Given the description of an element on the screen output the (x, y) to click on. 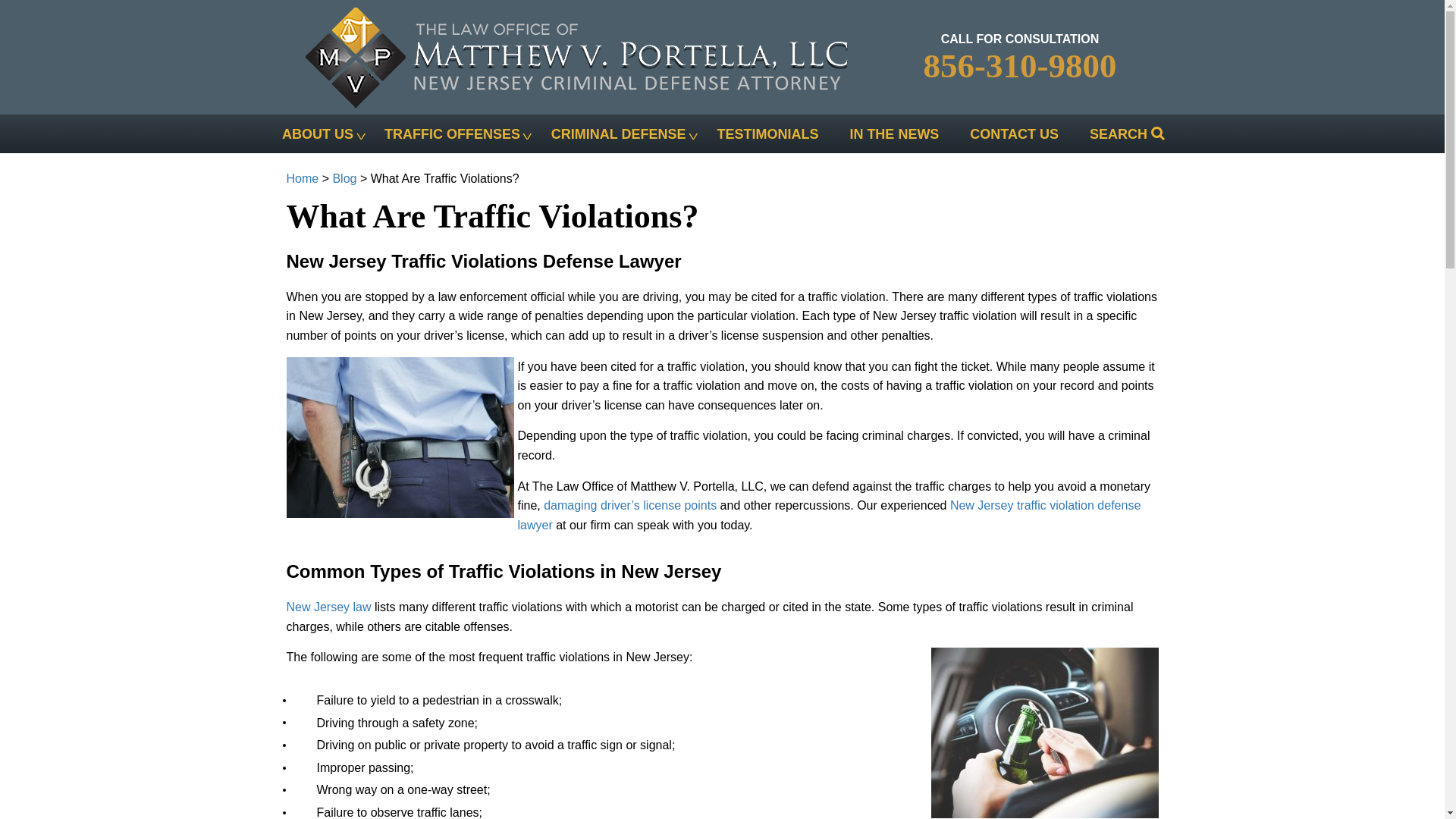
TESTIMONIALS (767, 133)
TRAFFIC OFFENSES (451, 133)
ABOUT US (317, 133)
CRIMINAL DEFENSE (617, 133)
856-310-9800 (1019, 65)
